Given the description of an element on the screen output the (x, y) to click on. 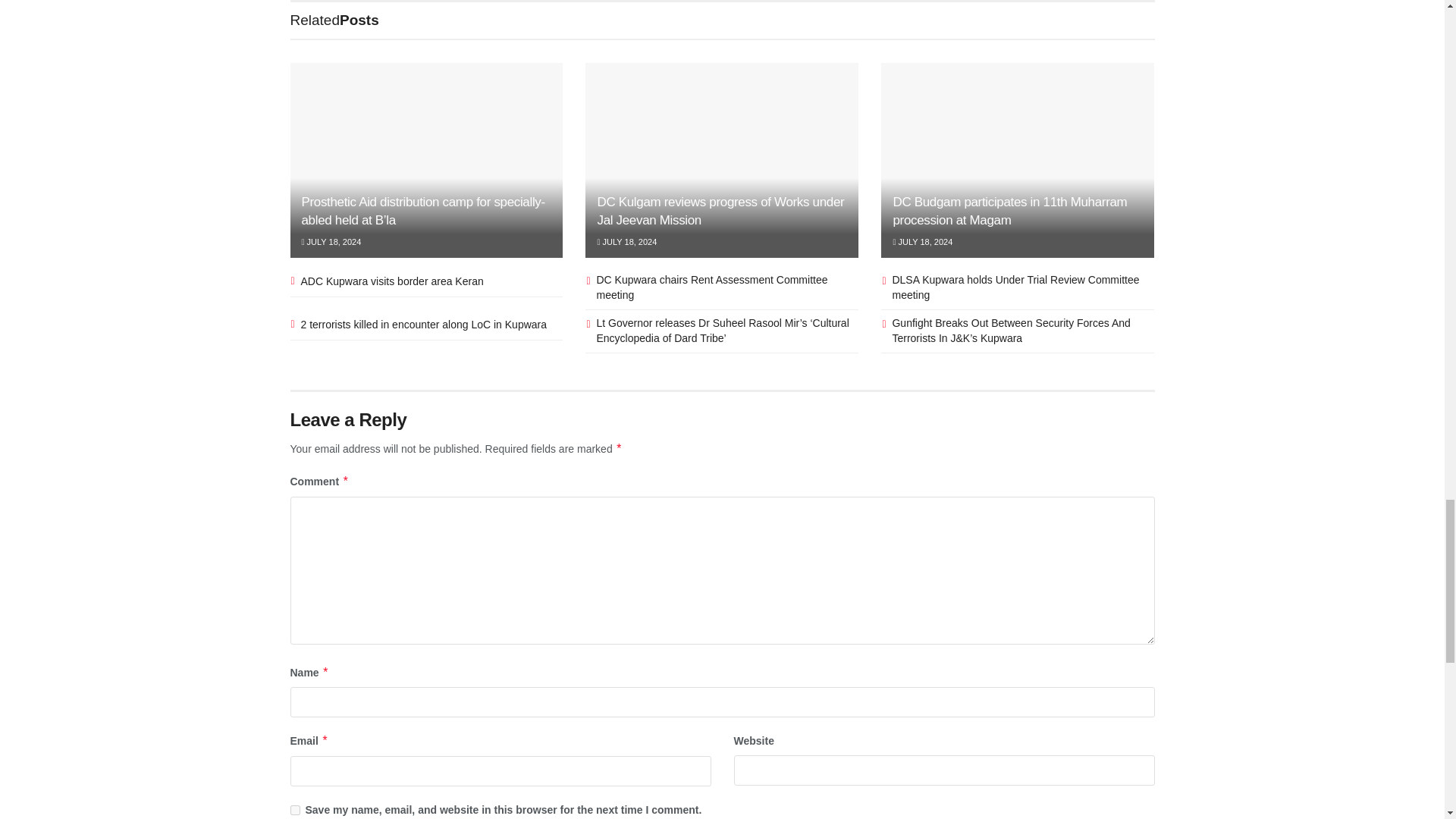
yes (294, 809)
